Given the description of an element on the screen output the (x, y) to click on. 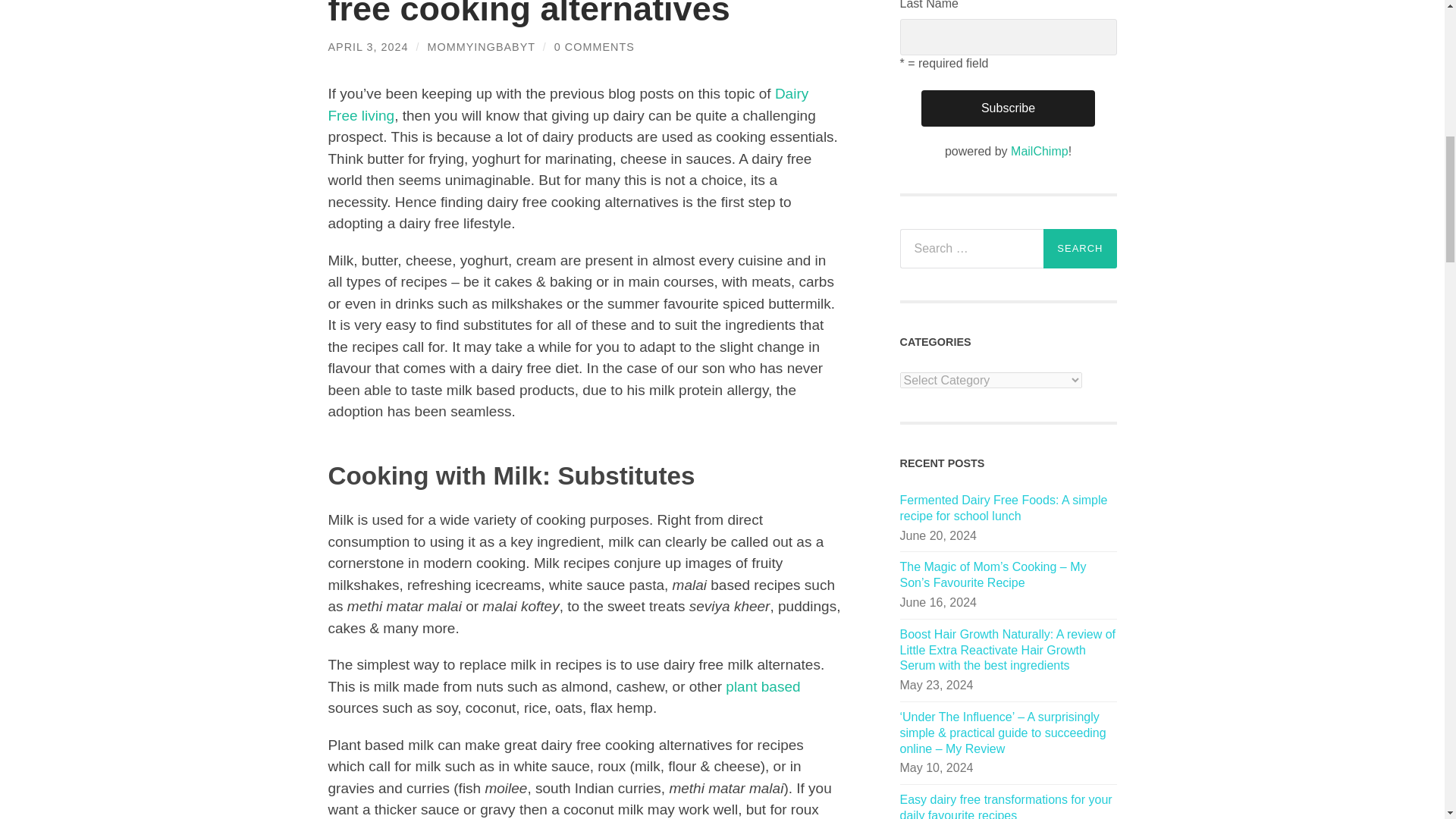
plant based (762, 686)
Posts by mommyingbabyt (481, 46)
Subscribe (1007, 108)
0 COMMENTS (594, 46)
MOMMYINGBABYT (481, 46)
Dairy Free living (567, 104)
Search (1079, 248)
Search (1079, 248)
APRIL 3, 2024 (367, 46)
